Given the description of an element on the screen output the (x, y) to click on. 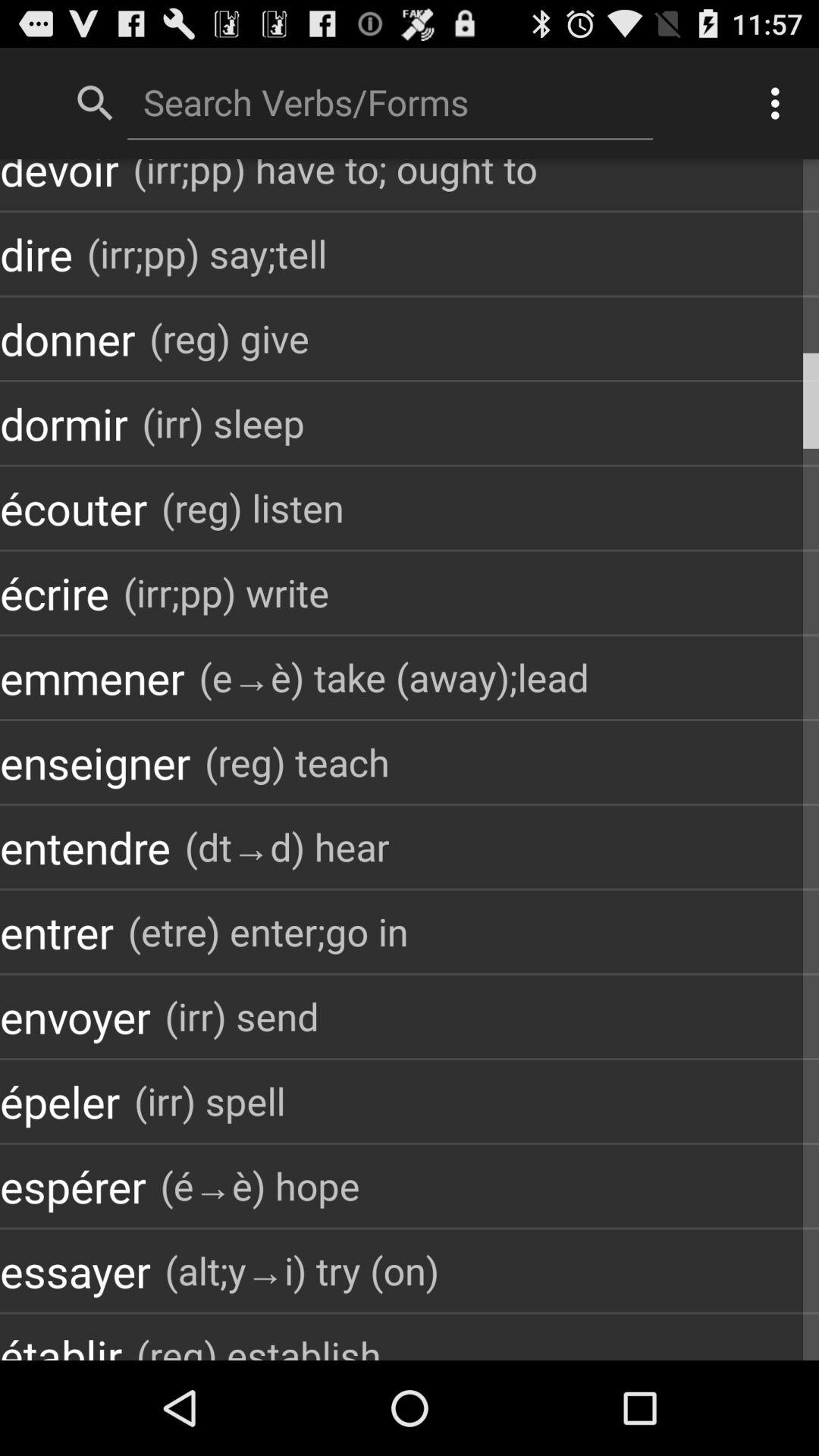
tap the app above the donner icon (36, 253)
